Given the description of an element on the screen output the (x, y) to click on. 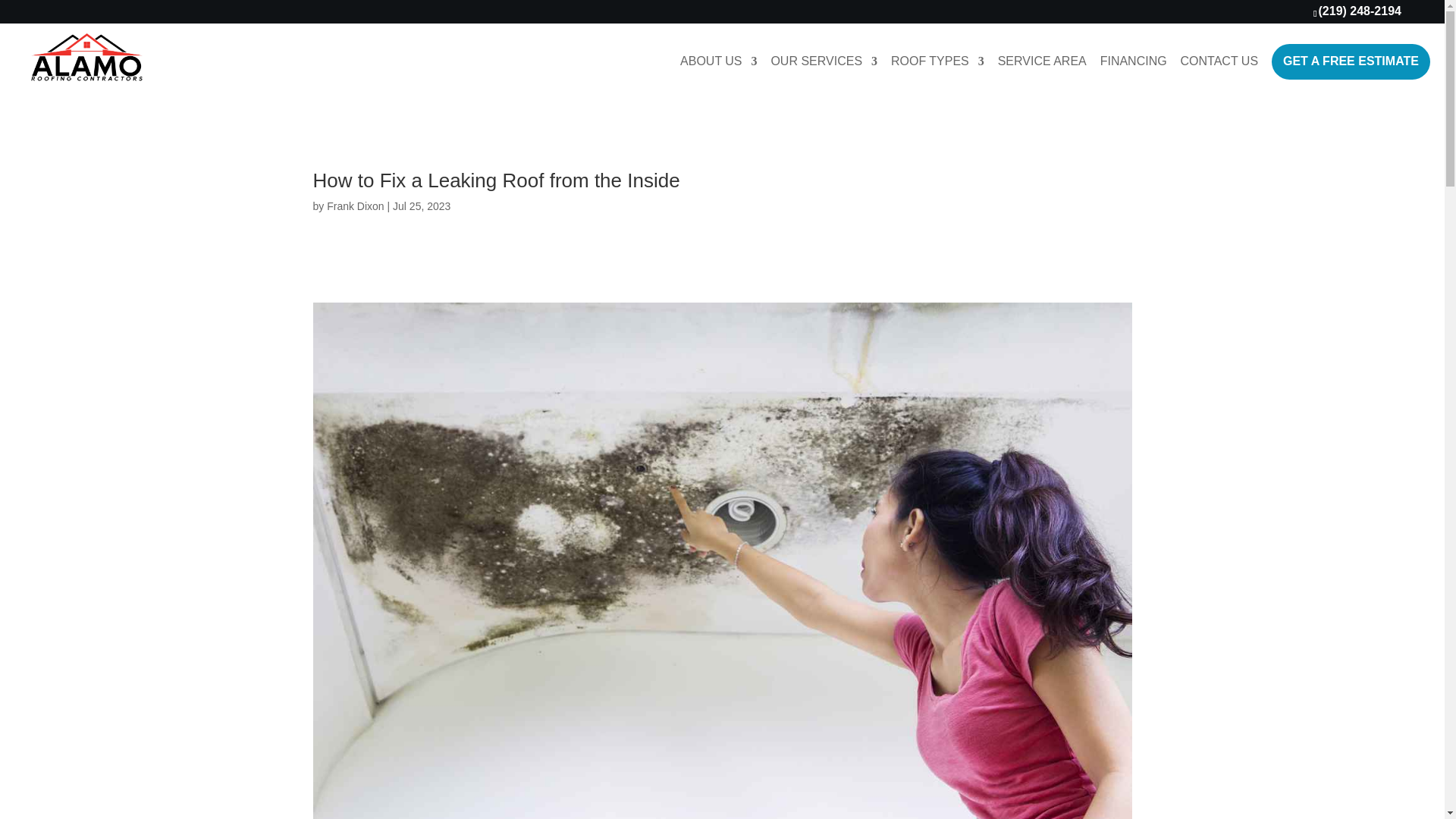
GET A FREE ESTIMATE (1350, 61)
OUR SERVICES (823, 74)
ABOUT US (718, 74)
Frank Dixon (355, 205)
CONTACT US (1219, 74)
ROOF TYPES (937, 74)
SERVICE AREA (1041, 74)
Posts by Frank Dixon (355, 205)
FINANCING (1133, 74)
